Given the description of an element on the screen output the (x, y) to click on. 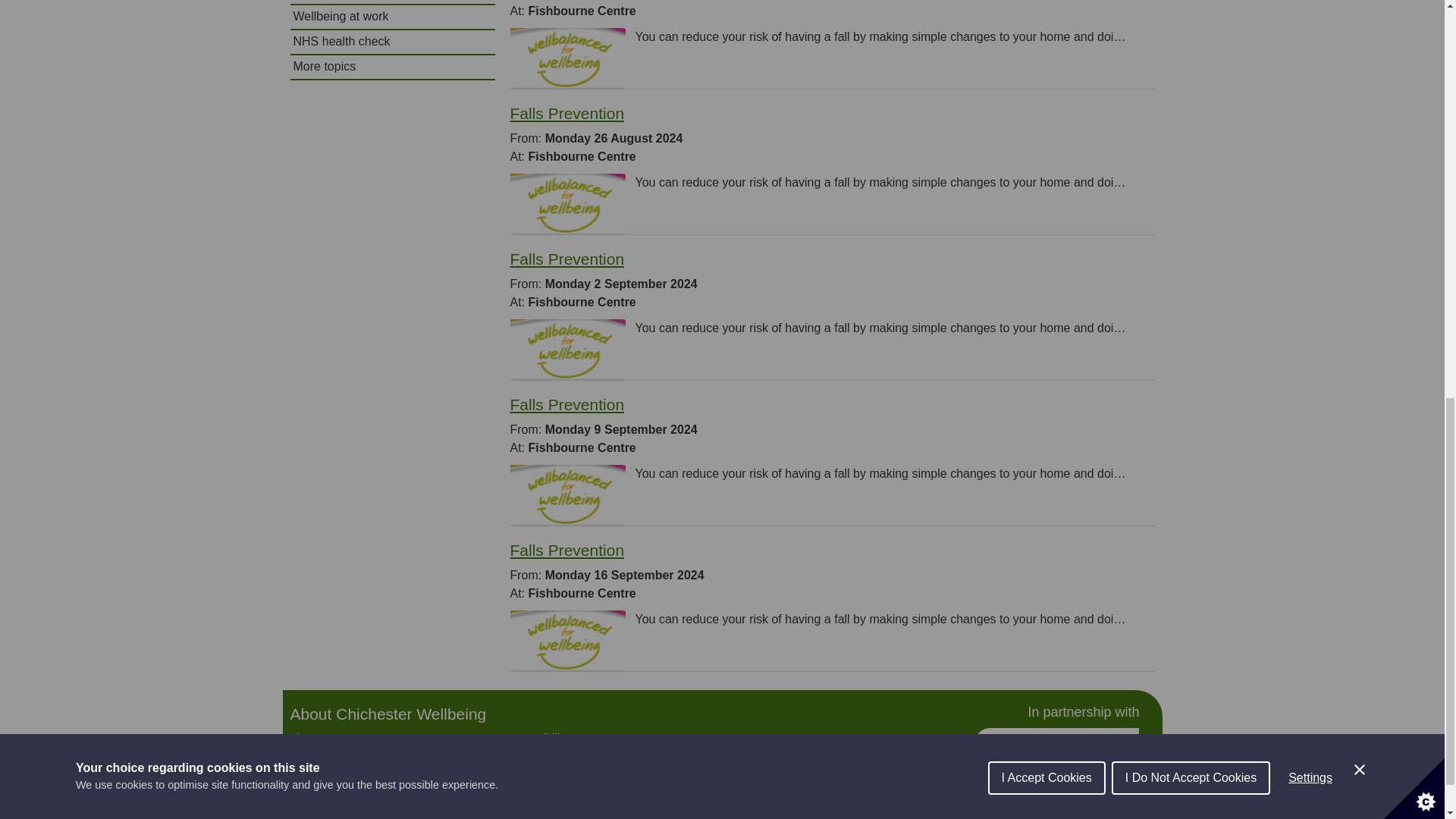
Settings (1309, 4)
I Accept Cookies (1046, 17)
I Do Not Accept Cookies (1190, 12)
Falls Prevention (566, 404)
Falls Prevention (566, 113)
Falls Prevention (566, 258)
Falls Prevention (566, 549)
